Given the description of an element on the screen output the (x, y) to click on. 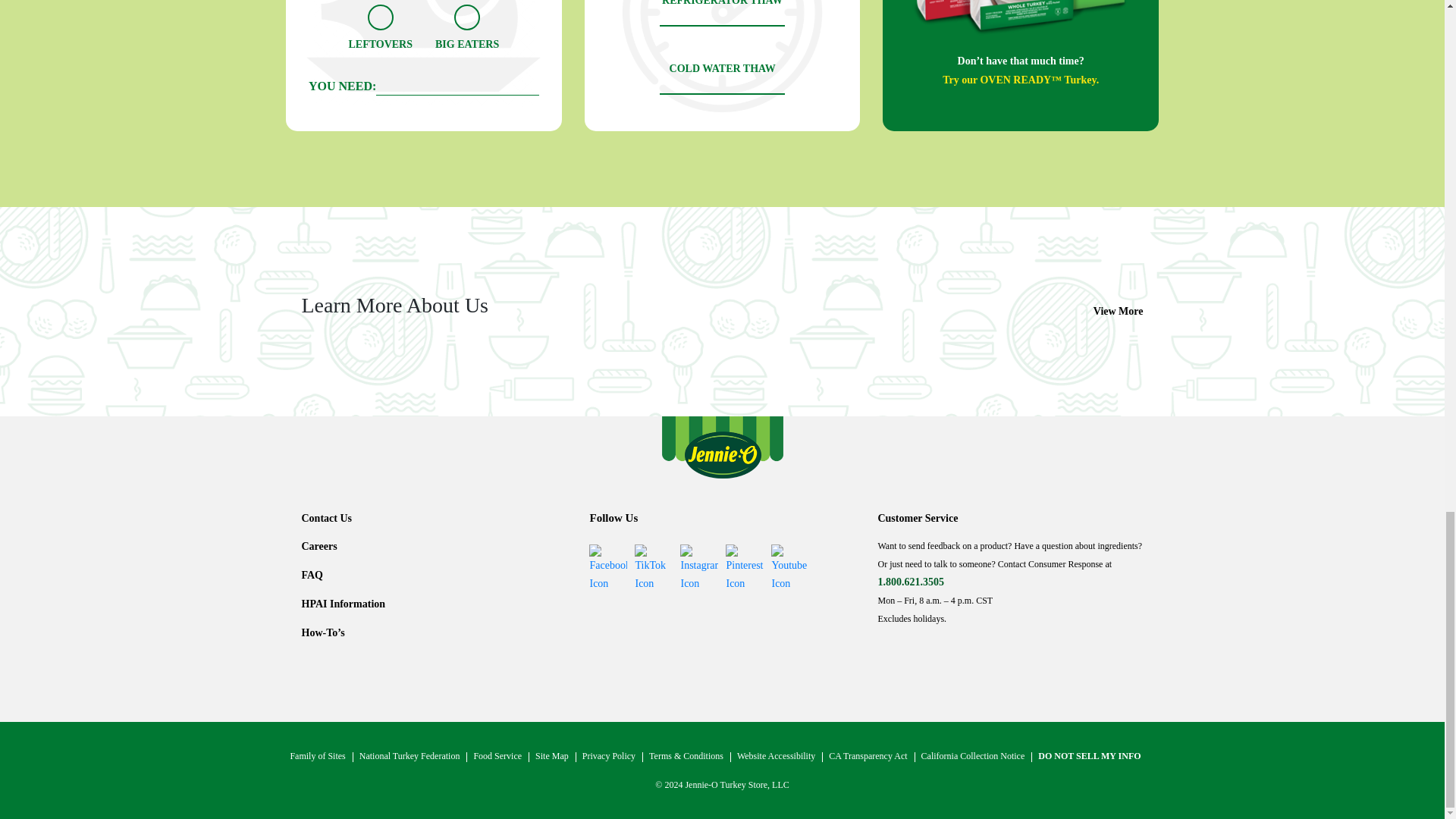
FAQ (312, 574)
Contact Us (326, 518)
Careers (319, 546)
View More (1117, 311)
